Given the description of an element on the screen output the (x, y) to click on. 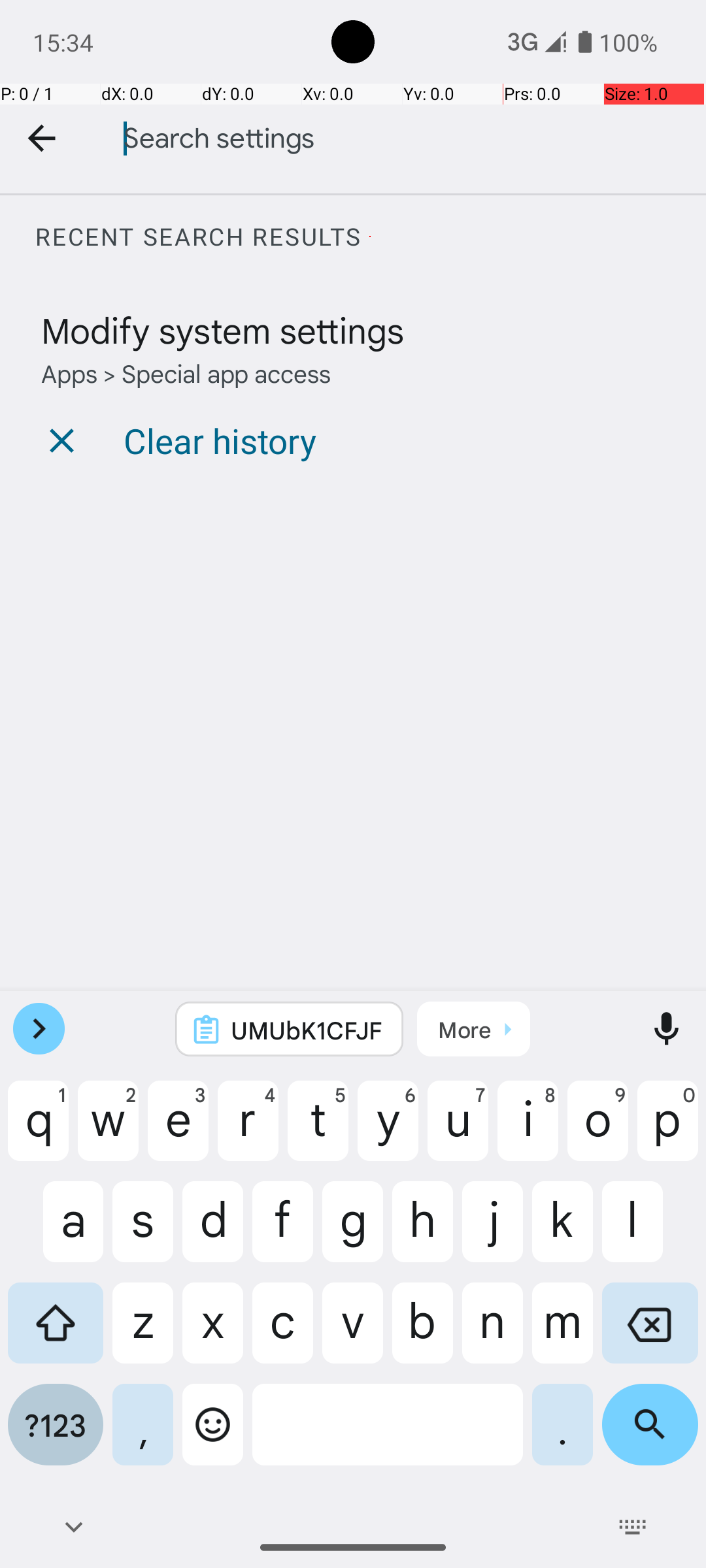
RECENT SEARCH RESULTS Element type: android.widget.TextView (370, 236)
Modify system settings Element type: android.widget.TextView (222, 329)
Apps > Special app access Element type: android.widget.TextView (185, 372)
Clear history Element type: android.widget.TextView (219, 440)
